Given the description of an element on the screen output the (x, y) to click on. 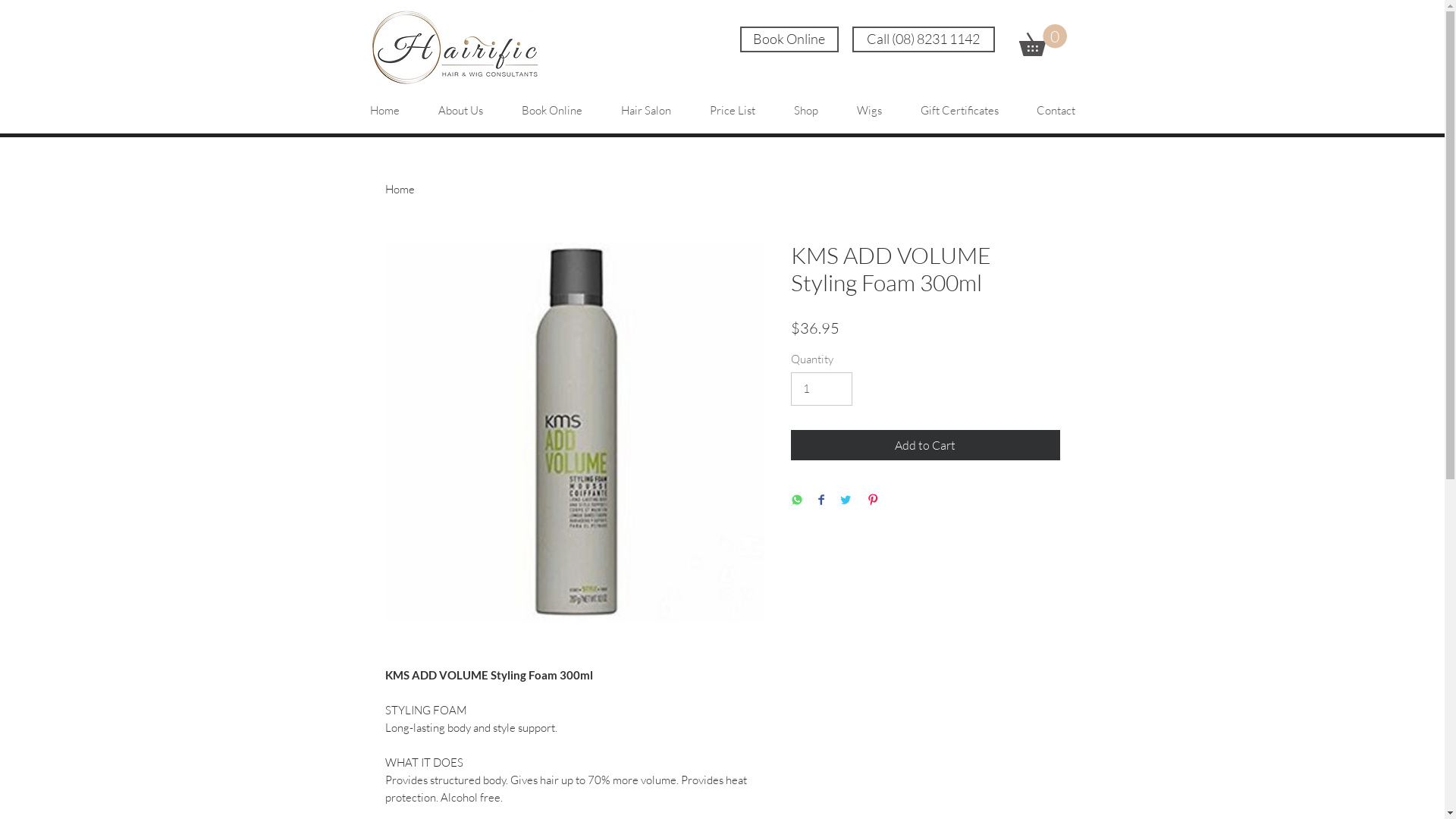
Wigs Element type: text (868, 103)
Book Online Element type: text (789, 39)
Hair Salon Element type: text (646, 103)
About Us Element type: text (460, 103)
Home Element type: text (399, 189)
Book Online Element type: text (551, 103)
0 Element type: text (1042, 40)
Price List Element type: text (732, 103)
Gift Certificates Element type: text (958, 103)
Shop Element type: text (806, 103)
Call (08) 8231 1142 Element type: text (923, 39)
Contact Element type: text (1055, 103)
Home Element type: text (384, 103)
Add to Cart Element type: text (924, 444)
